Given the description of an element on the screen output the (x, y) to click on. 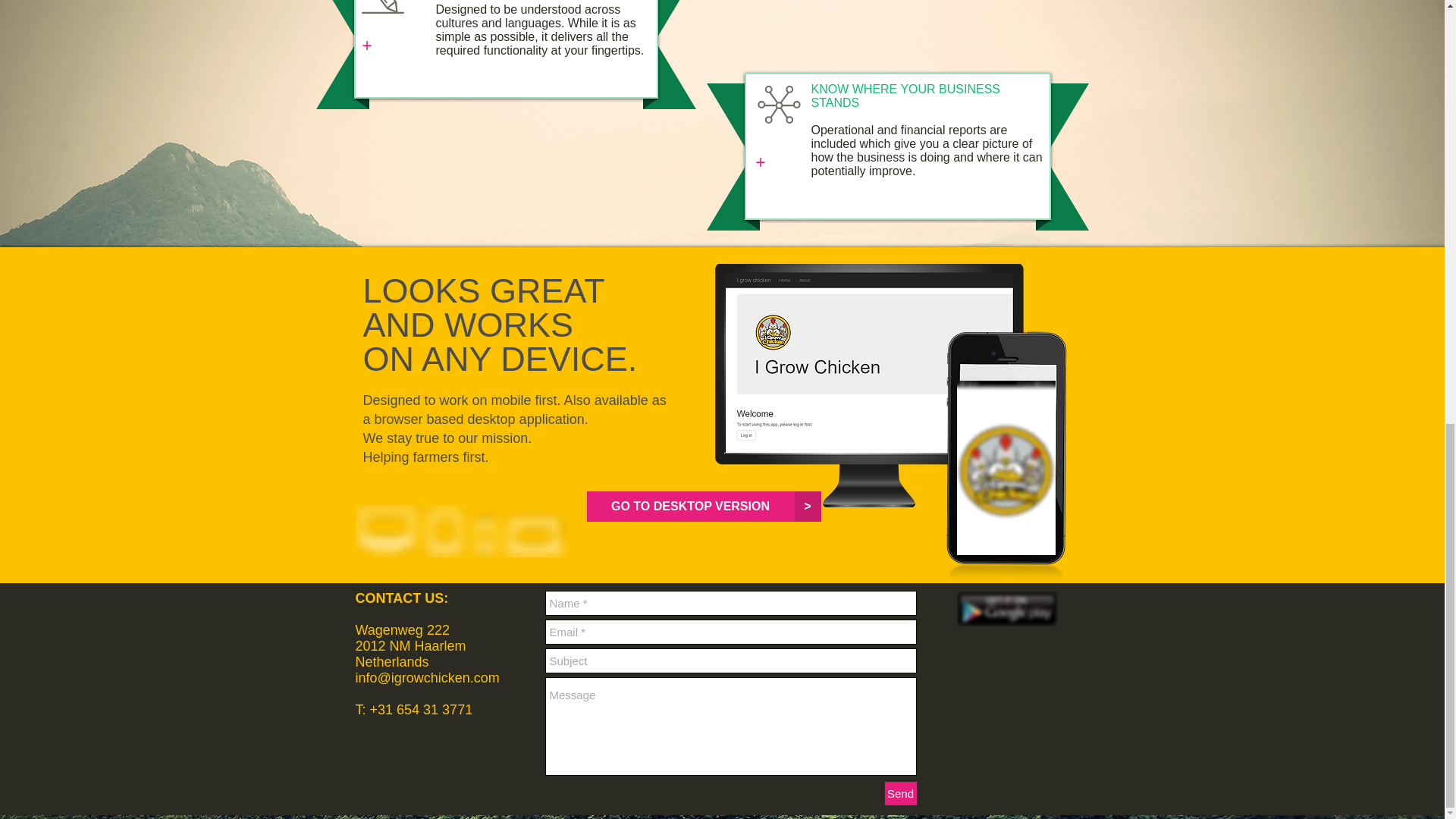
GO TO DESKTOP VERSION (690, 506)
Send (899, 793)
